Given the description of an element on the screen output the (x, y) to click on. 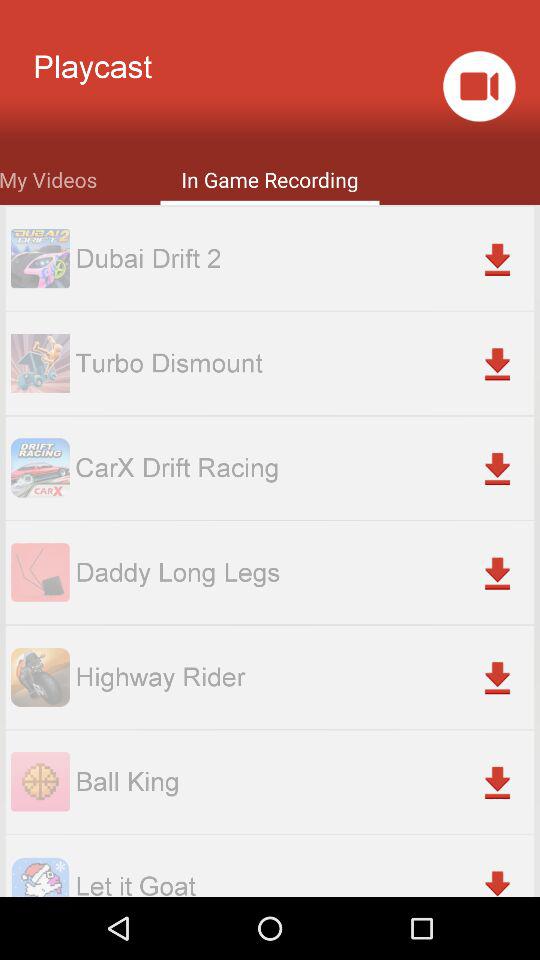
scroll to my videos app (48, 178)
